Given the description of an element on the screen output the (x, y) to click on. 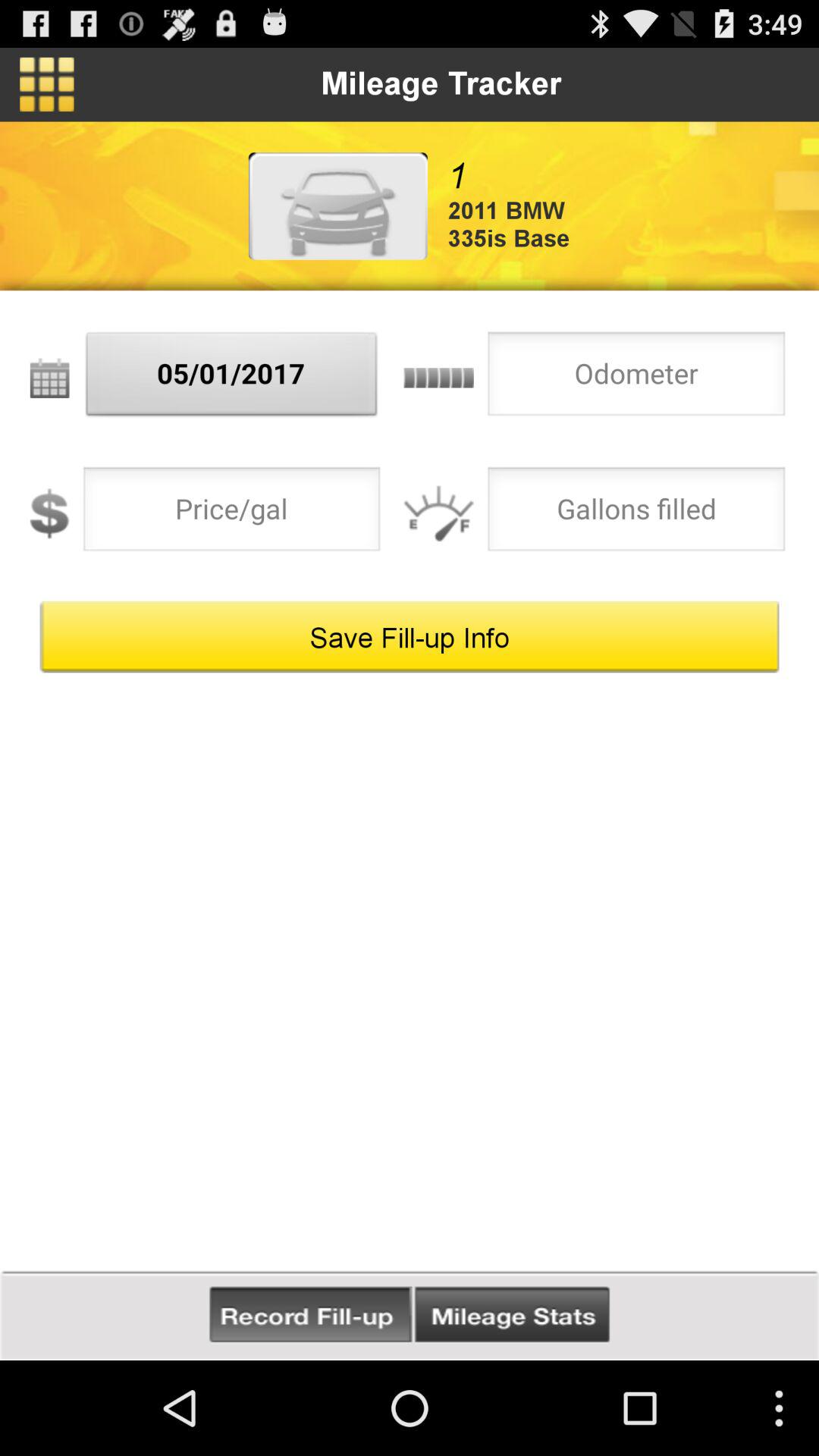
turn on button below the save fill up (511, 1315)
